Given the description of an element on the screen output the (x, y) to click on. 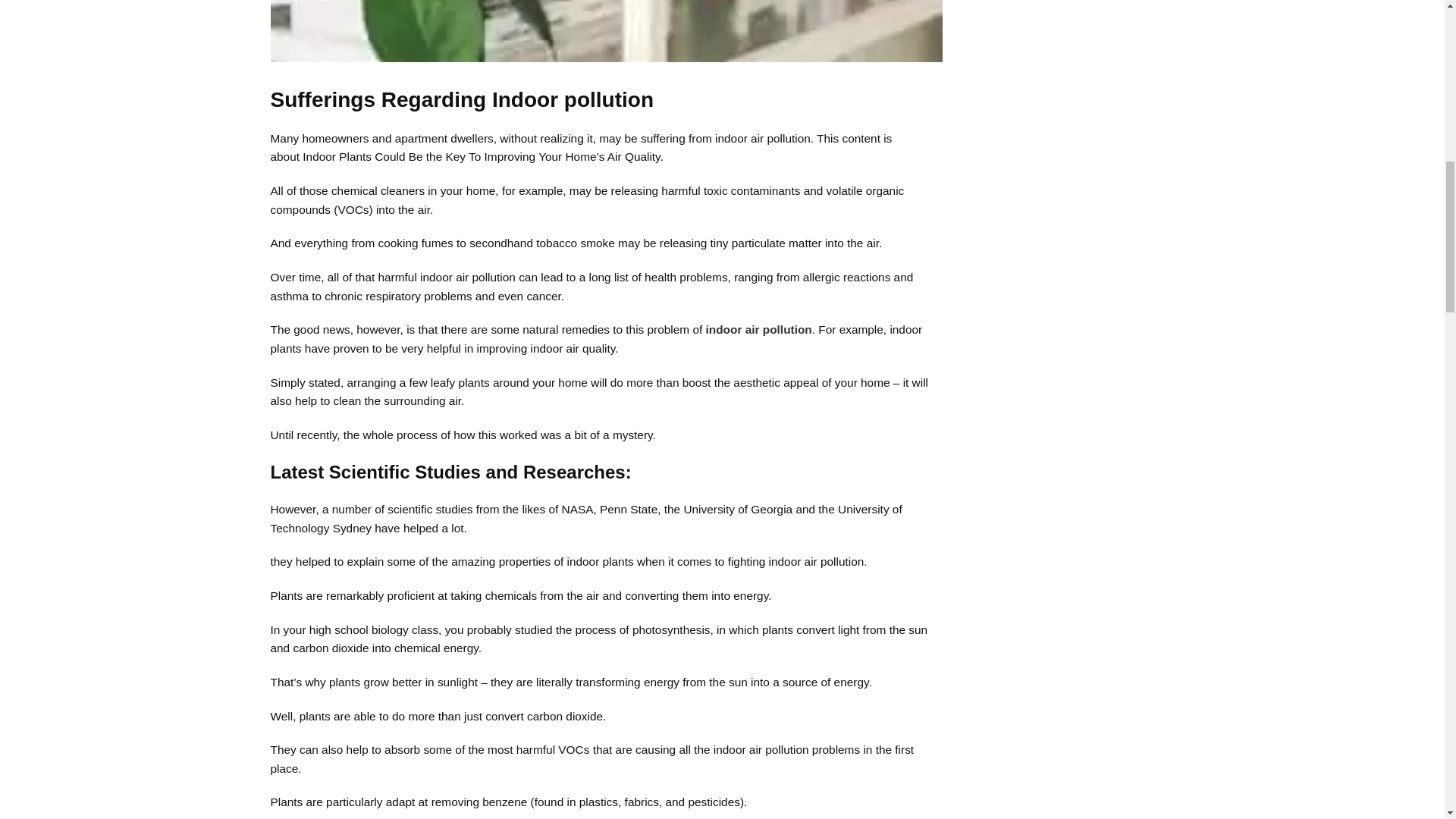
indoor air pollution (759, 328)
